Given the description of an element on the screen output the (x, y) to click on. 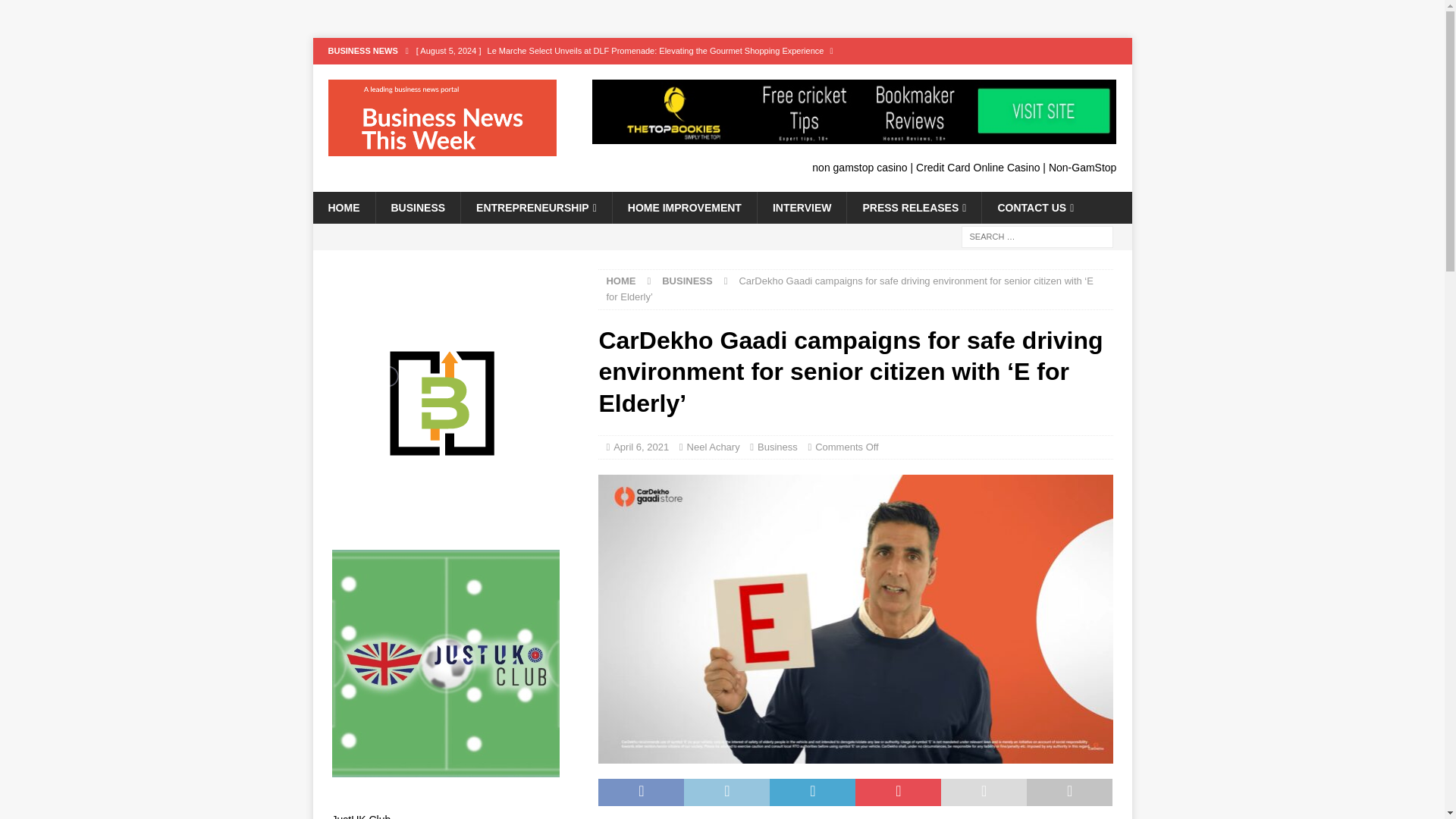
Non-GamStop (1082, 167)
BUSINESS (417, 207)
Credit Card Online Casino (977, 167)
CONTACT US (1035, 207)
non gamstop casino (859, 167)
April 6, 2021 (640, 446)
Neel Achary (713, 446)
BUSINESS (686, 280)
HOME (343, 207)
Search (56, 11)
INTERVIEW (802, 207)
HOME (619, 280)
Business (777, 446)
HOME IMPROVEMENT (684, 207)
